Given the description of an element on the screen output the (x, y) to click on. 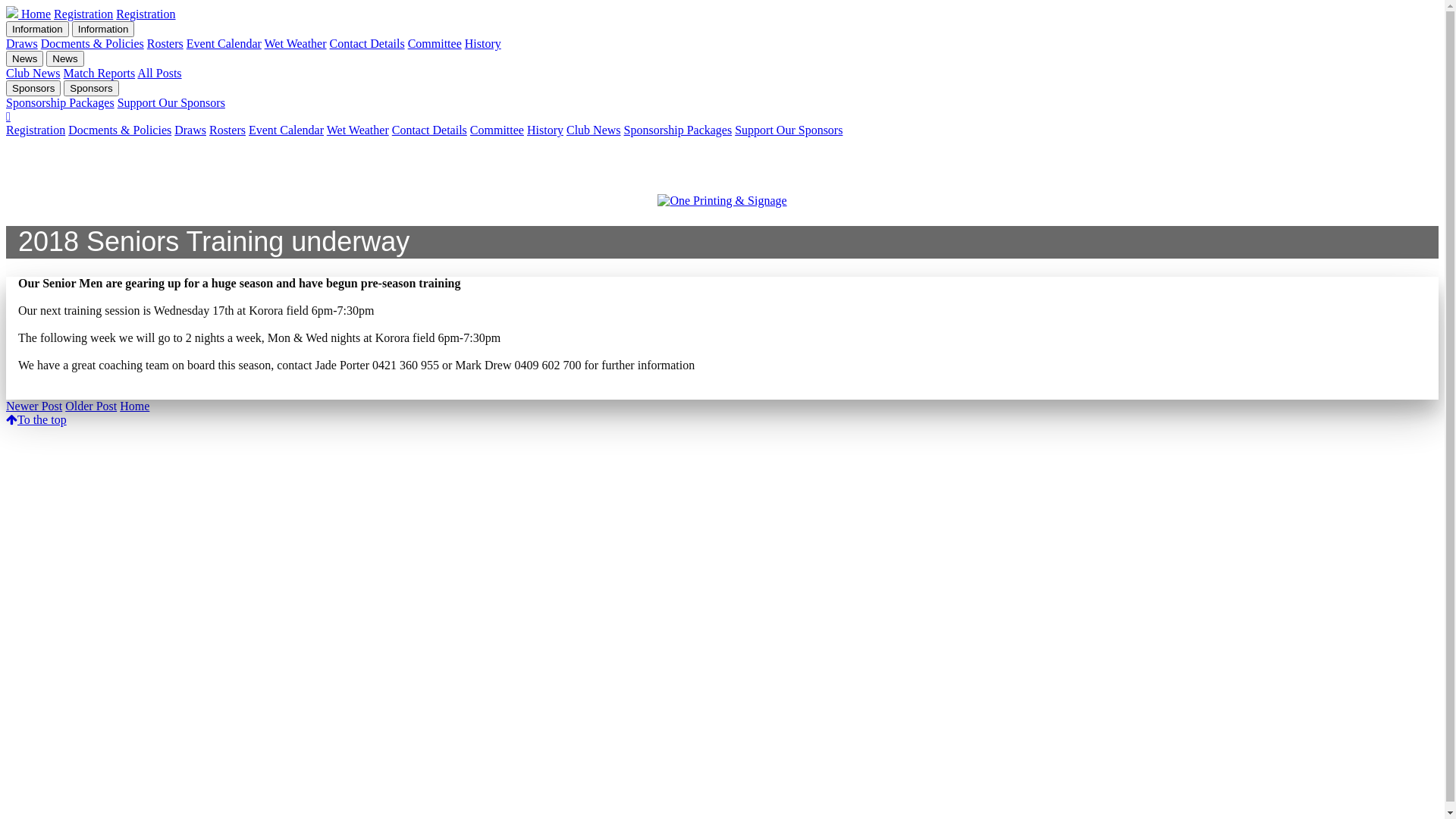
Docments & Policies Element type: text (92, 43)
Draws Element type: text (190, 129)
News Element type: text (24, 58)
Event Calendar Element type: text (223, 43)
Registration Element type: text (35, 129)
Committee Element type: text (434, 43)
Older Post Element type: text (90, 405)
Home Element type: text (134, 405)
Sponsorship Packages Element type: text (60, 102)
 Home Element type: text (28, 13)
History Element type: text (482, 43)
Support Our Sponsors Element type: text (171, 102)
Sponsors Element type: text (33, 88)
Newer Post Element type: text (34, 405)
Rosters Element type: text (227, 129)
Wet Weather Element type: text (295, 43)
Sponsorship Packages Element type: text (678, 129)
History Element type: text (545, 129)
Match Reports Element type: text (99, 72)
Draws Element type: text (21, 43)
Wet Weather Element type: text (357, 129)
Information Element type: text (103, 29)
Docments & Policies Element type: text (119, 129)
Registration Element type: text (145, 13)
Club News Element type: text (33, 72)
Contact Details Element type: text (366, 43)
To the top Element type: text (36, 419)
Registration Element type: text (82, 13)
All Posts Element type: text (159, 72)
Contact Details Element type: text (429, 129)
Committee Element type: text (497, 129)
Support Our Sponsors Element type: text (788, 129)
Sponsors Element type: text (90, 88)
Information Element type: text (37, 29)
One Printing & Signage Element type: hover (721, 200)
Club News Element type: text (593, 129)
Rosters Element type: text (165, 43)
News Element type: text (64, 58)
Event Calendar Element type: text (285, 129)
